Given the description of an element on the screen output the (x, y) to click on. 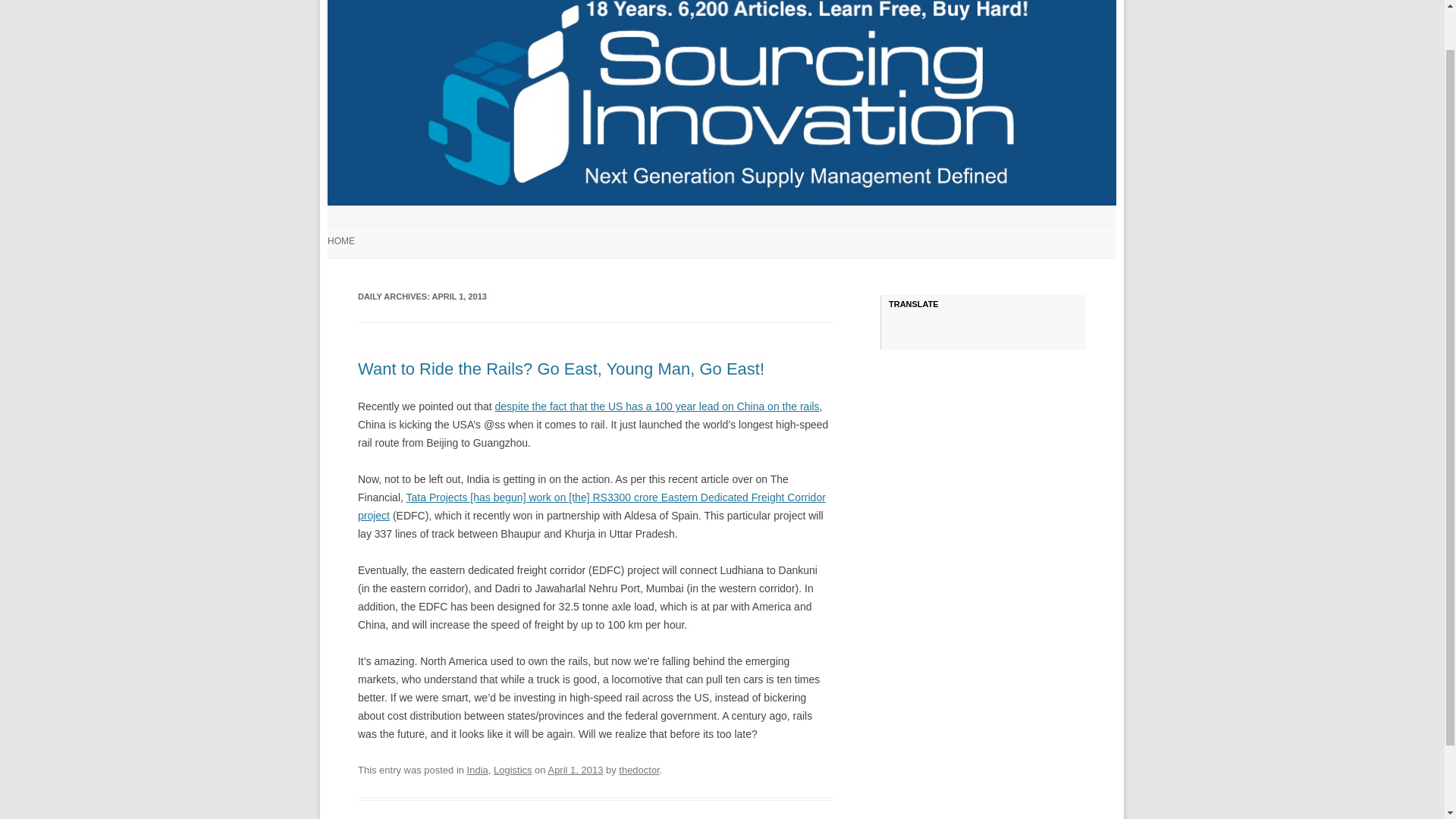
View all posts by thedoctor (638, 769)
April 1, 2013 (574, 769)
Want to Ride the Rails? Go East, Young Man, Go East! (561, 368)
10:00 am (574, 769)
Logistics (512, 769)
Skip to content (757, 228)
India (477, 769)
thedoctor (638, 769)
Skip to content (757, 228)
